Given the description of an element on the screen output the (x, y) to click on. 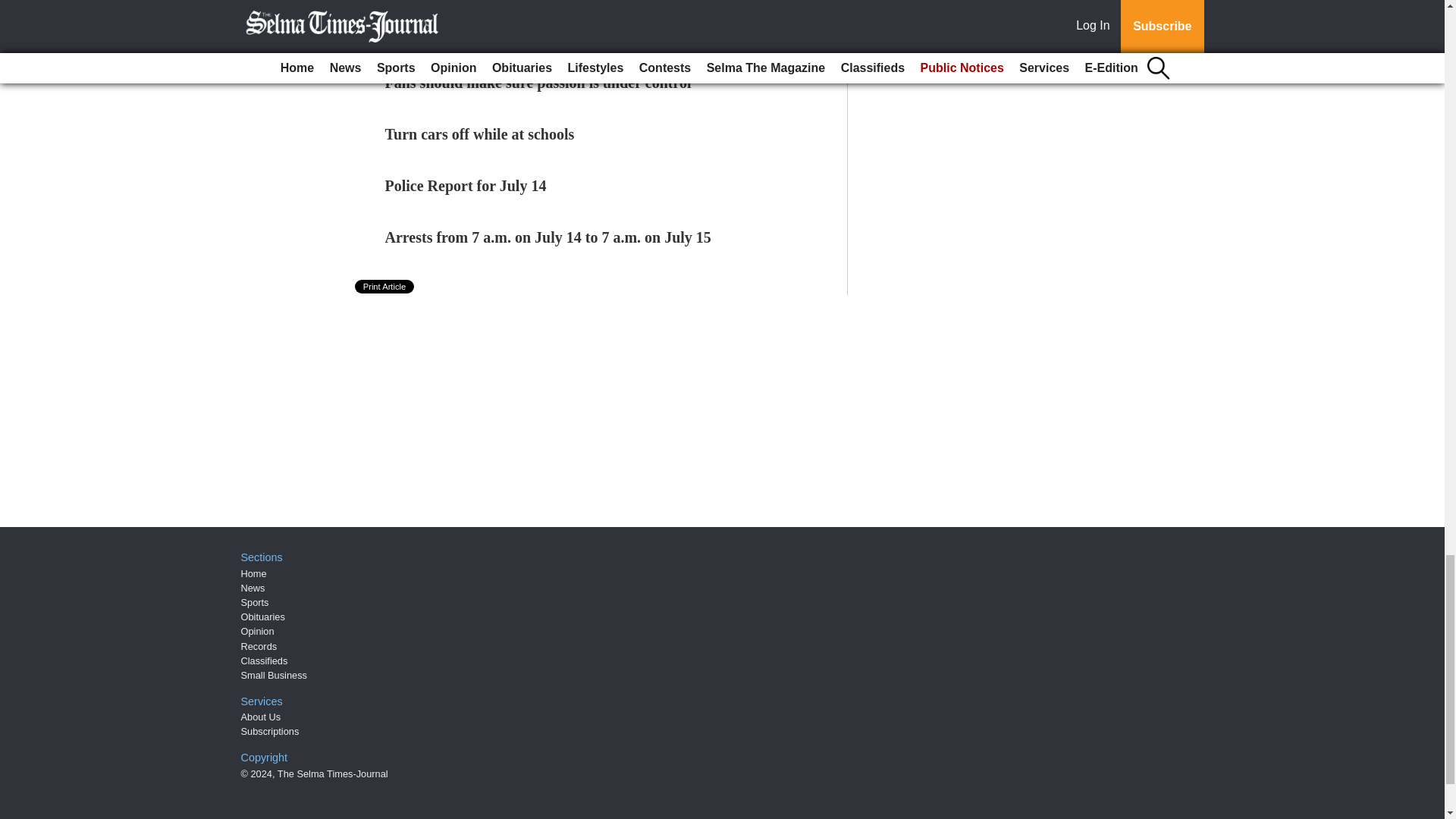
Police Report for July 14 (466, 185)
Print Article (384, 286)
Police Report for July 14 (466, 185)
Turn cars off while at schools (480, 134)
Arrests from 7 a.m. on July 14 to 7 a.m. on July 15 (548, 237)
Fans should make sure passion is under control (538, 82)
Fans should make sure passion is under control (538, 82)
Arrests from 7 a.m. on July 14 to 7 a.m. on July 15 (548, 237)
Turn cars off while at schools (480, 134)
